Given the description of an element on the screen output the (x, y) to click on. 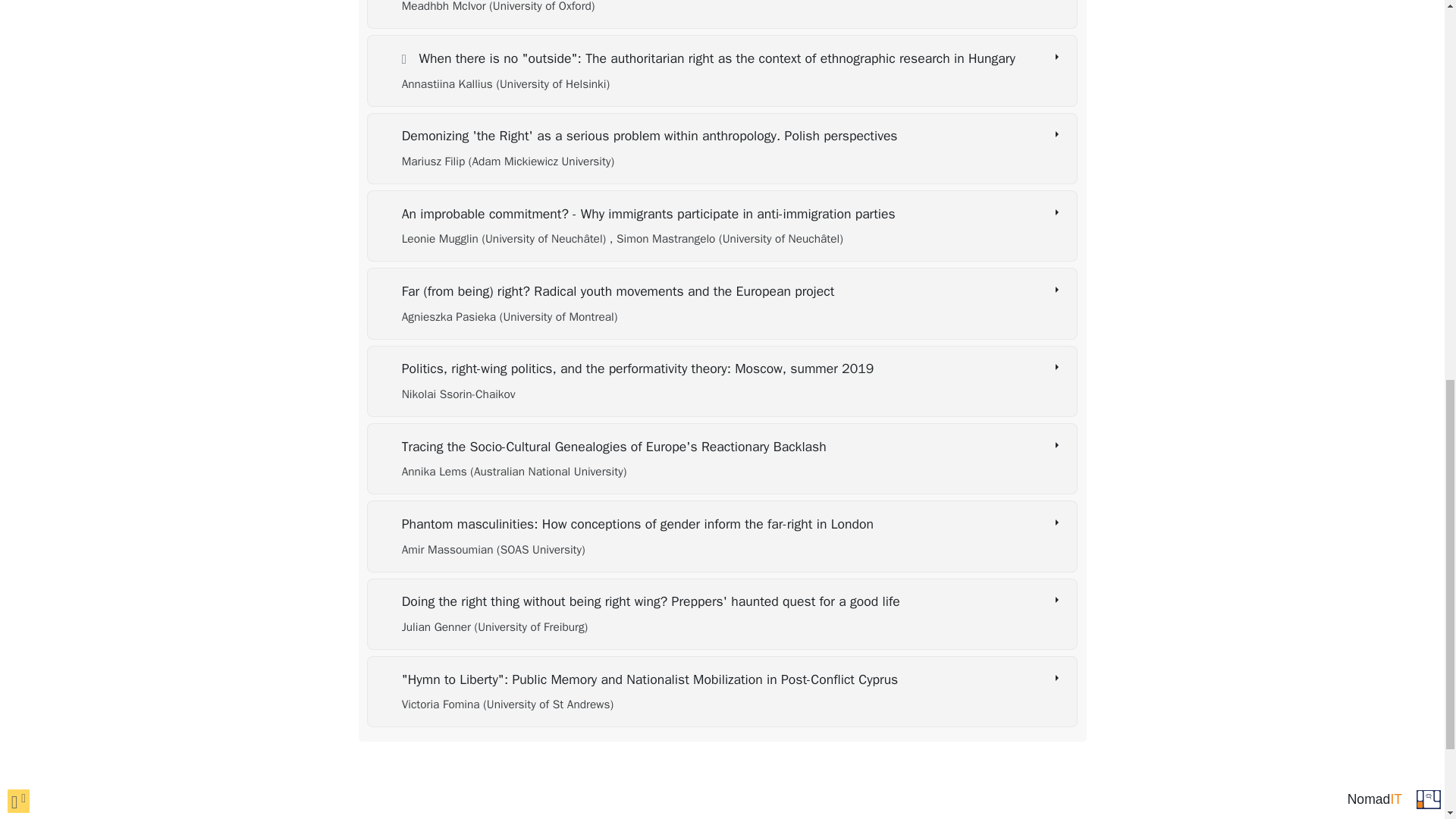
Author (514, 471)
Author (509, 316)
Author (493, 549)
Author (505, 83)
Author (498, 6)
Author (494, 626)
Author (726, 238)
Author (458, 394)
Author (507, 160)
Author (505, 238)
Author (506, 703)
